Given the description of an element on the screen output the (x, y) to click on. 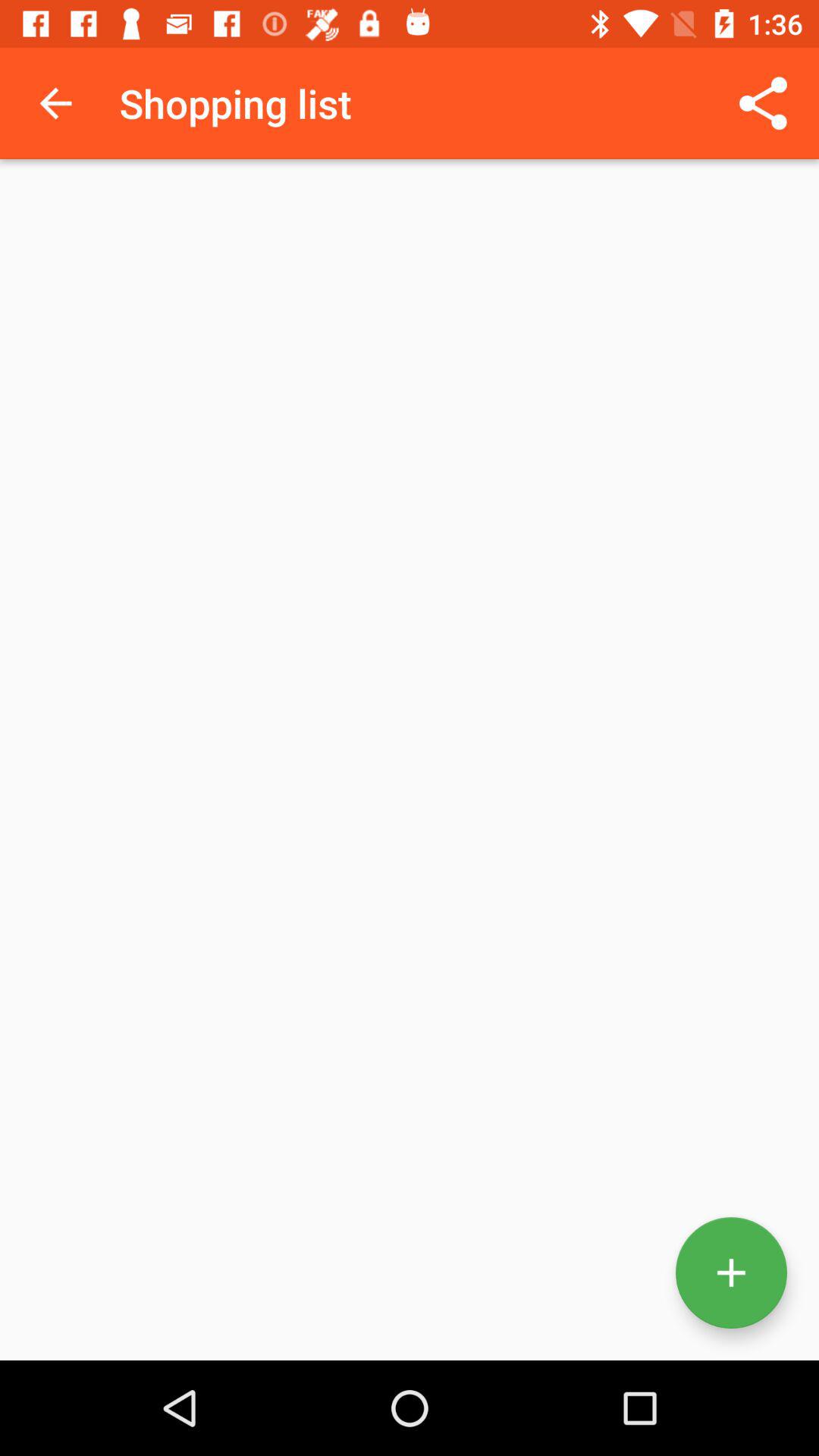
add item (731, 1272)
